Given the description of an element on the screen output the (x, y) to click on. 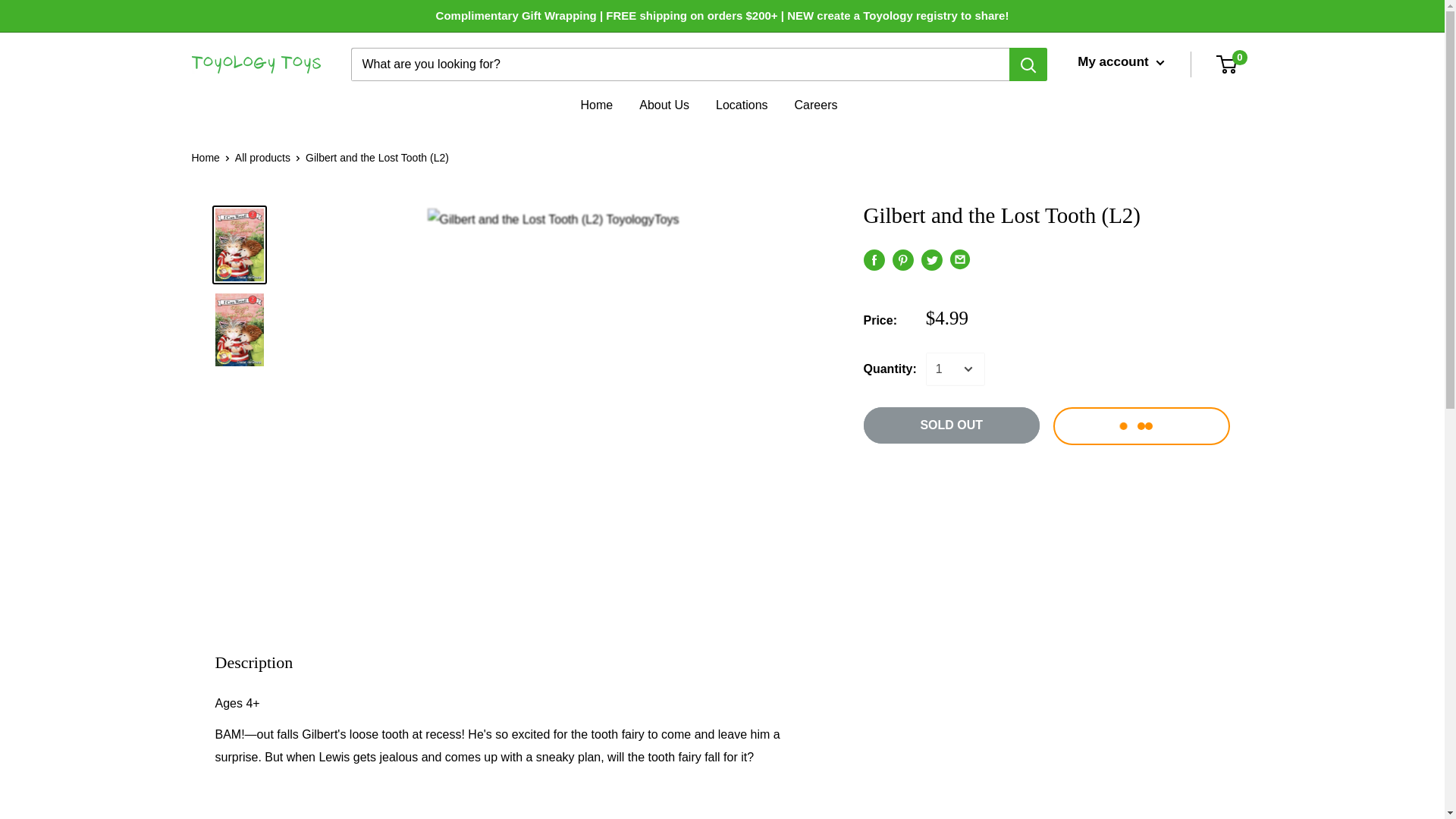
About Us (663, 105)
Home (596, 105)
Careers (816, 105)
All products (261, 157)
My account (1120, 61)
Home (204, 157)
0 (1235, 64)
SOLD OUT (951, 425)
Locations (742, 105)
